Given the description of an element on the screen output the (x, y) to click on. 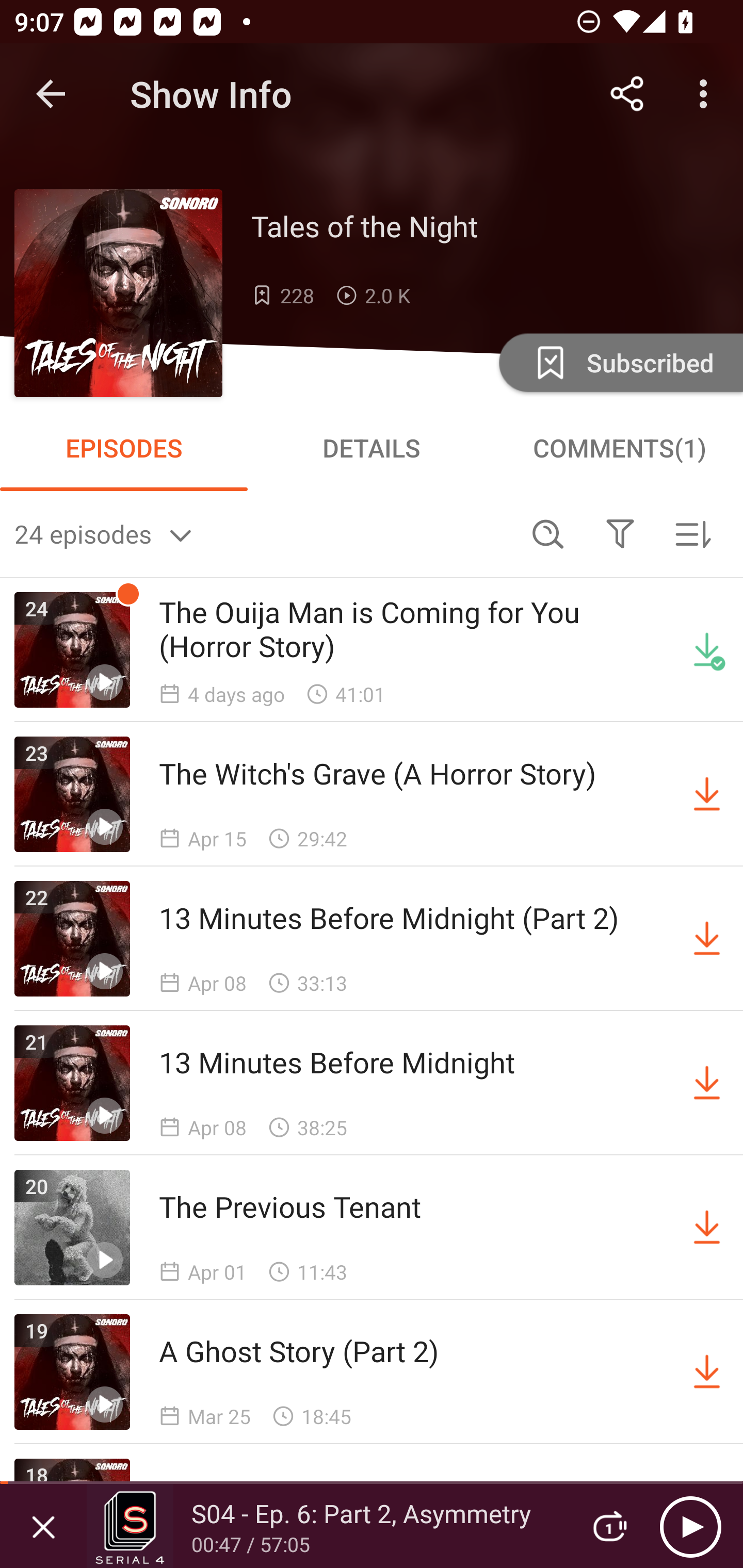
Navigate up (50, 93)
Share (626, 93)
More options (706, 93)
Unsubscribe Subscribed (619, 361)
EPISODES (123, 447)
DETAILS (371, 447)
COMMENTS(1) (619, 447)
24 episodes  (262, 533)
 Search (547, 533)
 (619, 533)
 Sorted by newest first (692, 533)
Downloaded (706, 649)
Download (706, 793)
Download (706, 939)
Download (706, 1083)
Download (706, 1227)
Download (706, 1371)
S04 - Ep. 6: Part 2, Asymmetry 00:47 / 57:05 (326, 1525)
Play (690, 1526)
